Given the description of an element on the screen output the (x, y) to click on. 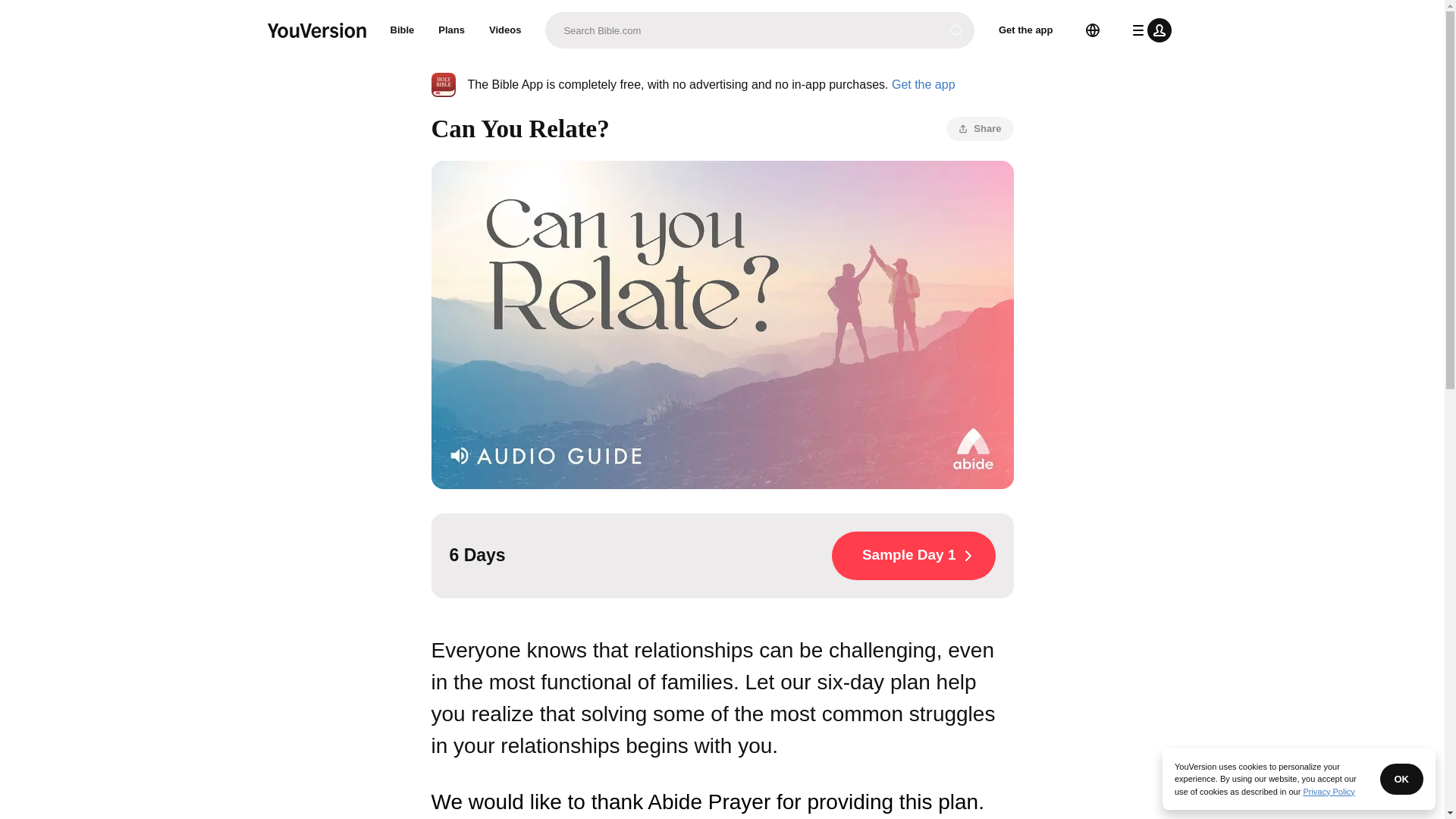
Videos (504, 29)
Plans (451, 29)
Sample Day 1 (913, 555)
Share (979, 128)
Bible Icon (442, 84)
Bible (401, 29)
Get the app (923, 83)
Get the app (1026, 29)
